Given the description of an element on the screen output the (x, y) to click on. 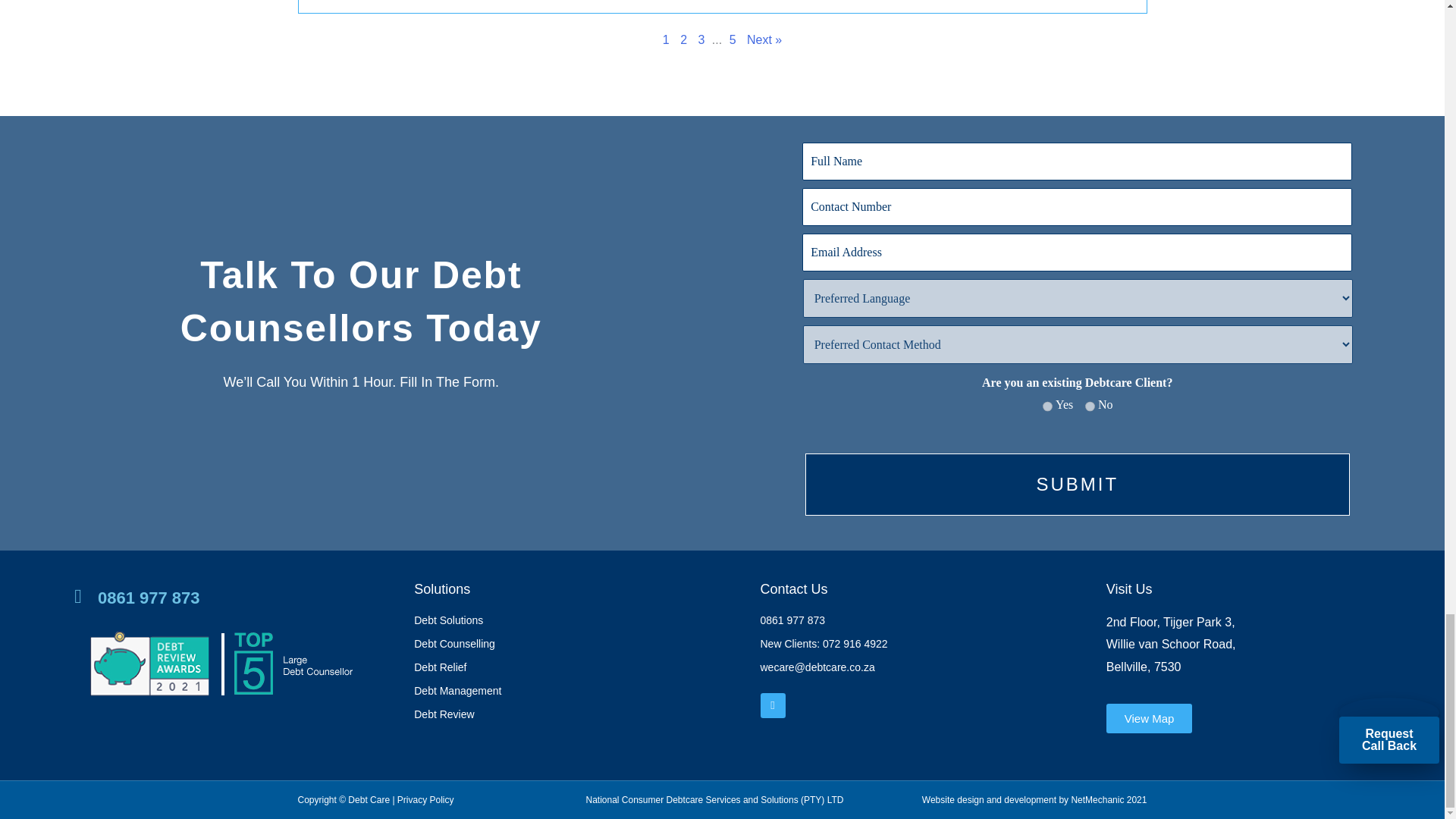
Submit (1077, 484)
Submit (1077, 484)
Debt Solutions (578, 620)
Debt Counselling (578, 644)
